Given the description of an element on the screen output the (x, y) to click on. 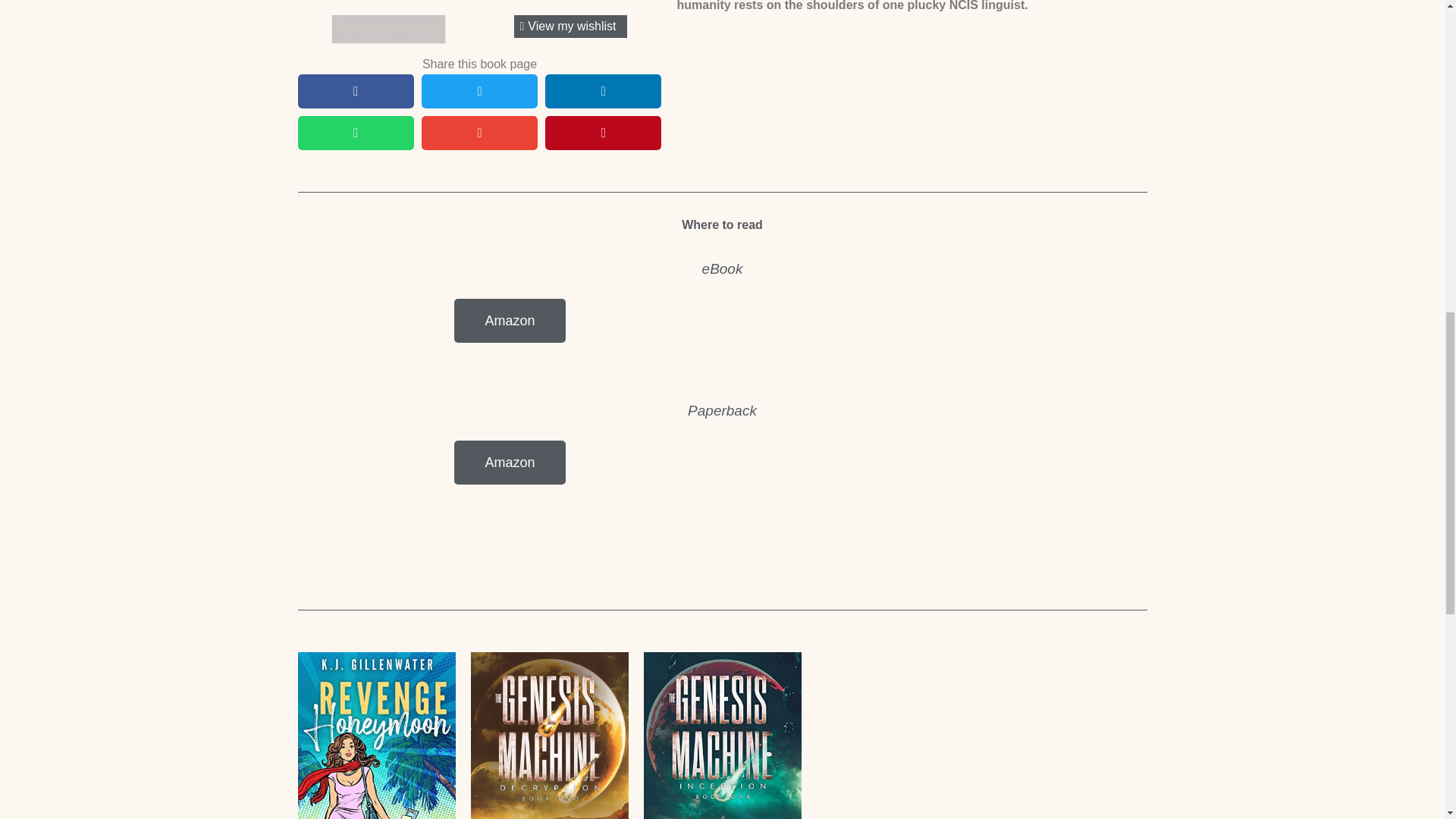
View my wishlist (569, 26)
Amazon (509, 320)
Add to Wishlist (388, 29)
